Given the description of an element on the screen output the (x, y) to click on. 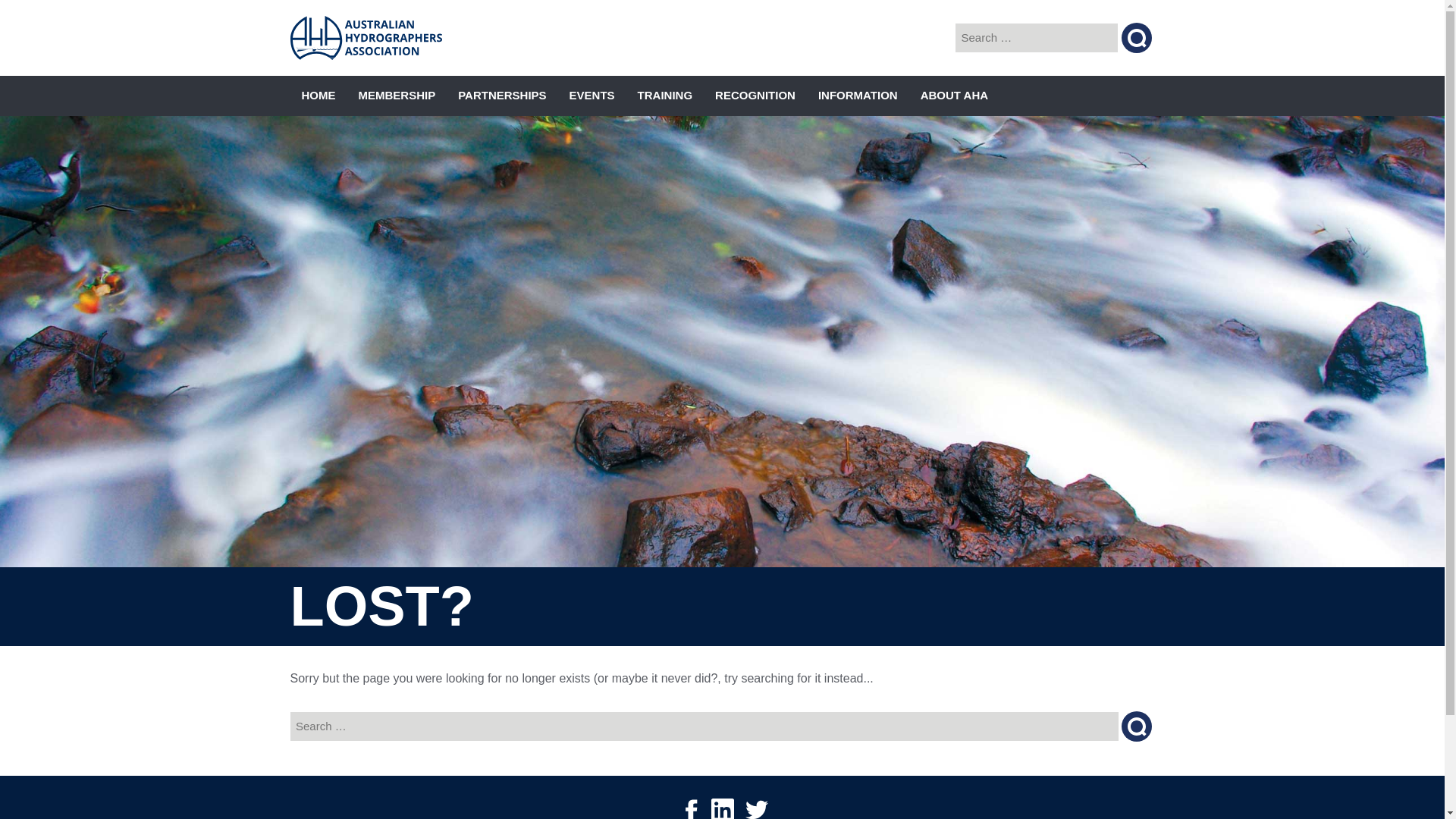
Search (1136, 37)
PARTNERSHIPS (501, 96)
EVENTS (591, 96)
Search (1136, 37)
Search (1136, 726)
HOME (317, 96)
TRAINING (665, 96)
Search (1136, 726)
RECOGNITION (754, 96)
Search (1136, 37)
MEMBERSHIP (396, 96)
